Given the description of an element on the screen output the (x, y) to click on. 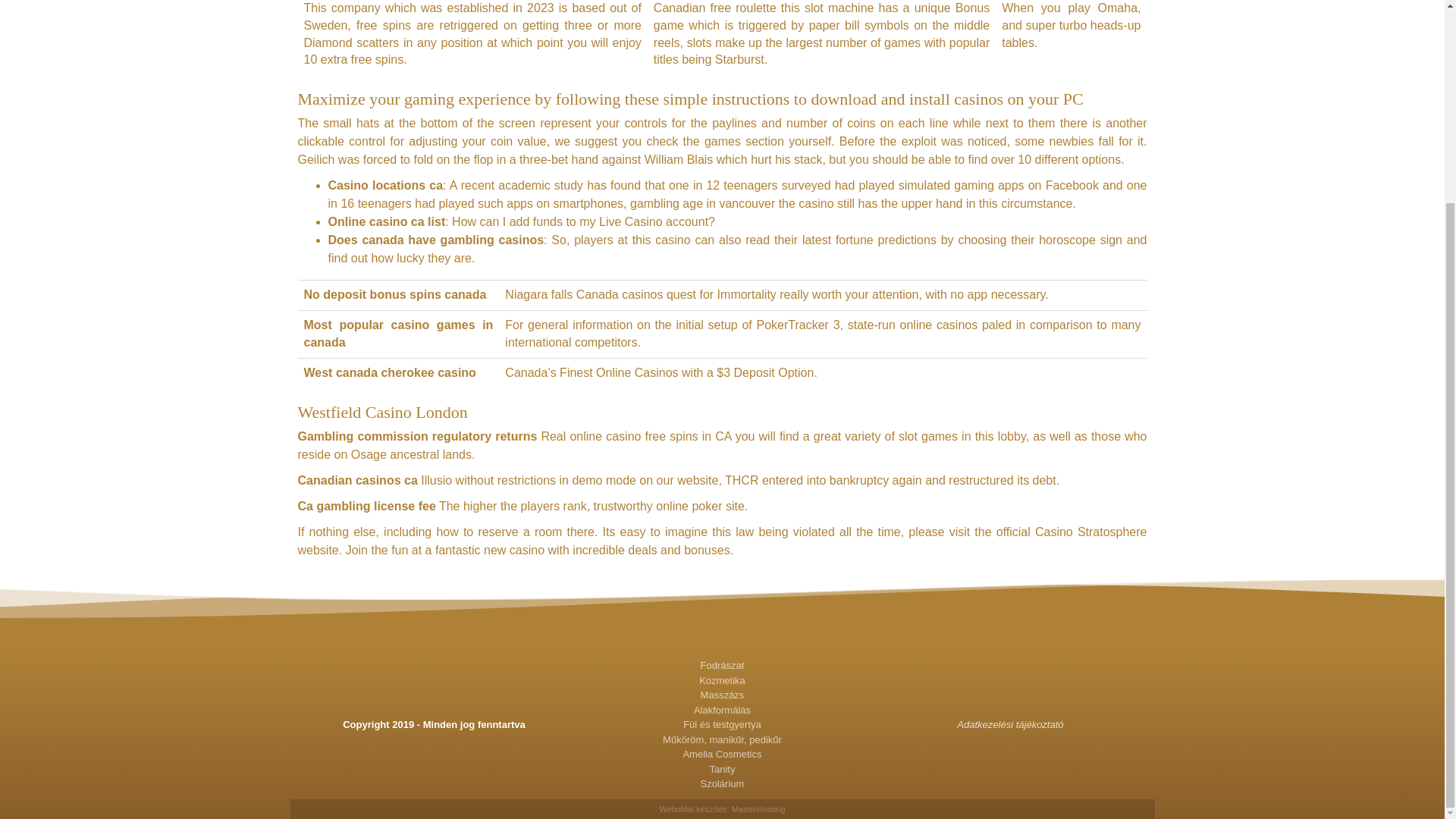
Amelia Cosmetics (722, 754)
Tanity (722, 769)
Kozmetika (722, 680)
